Given the description of an element on the screen output the (x, y) to click on. 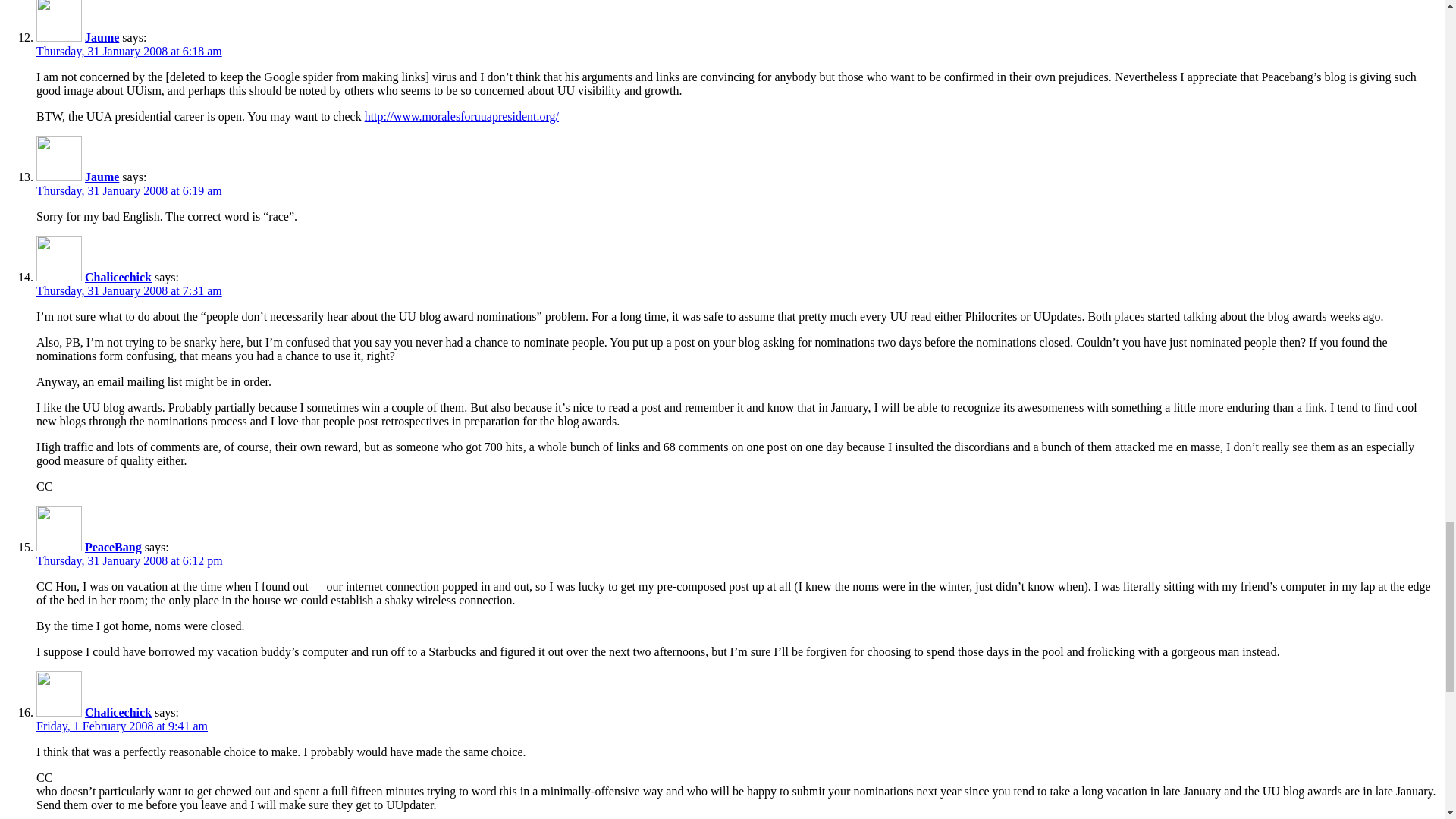
Chalicechick (117, 712)
Chalicechick (117, 277)
PeaceBang (112, 546)
Jaume (101, 176)
Thursday, 31 January 2008 at 6:19 am (129, 190)
Thursday, 31 January 2008 at 6:12 pm (129, 560)
Thursday, 31 January 2008 at 6:18 am (129, 51)
Jaume (101, 37)
Thursday, 31 January 2008 at 7:31 am (129, 290)
